Given the description of an element on the screen output the (x, y) to click on. 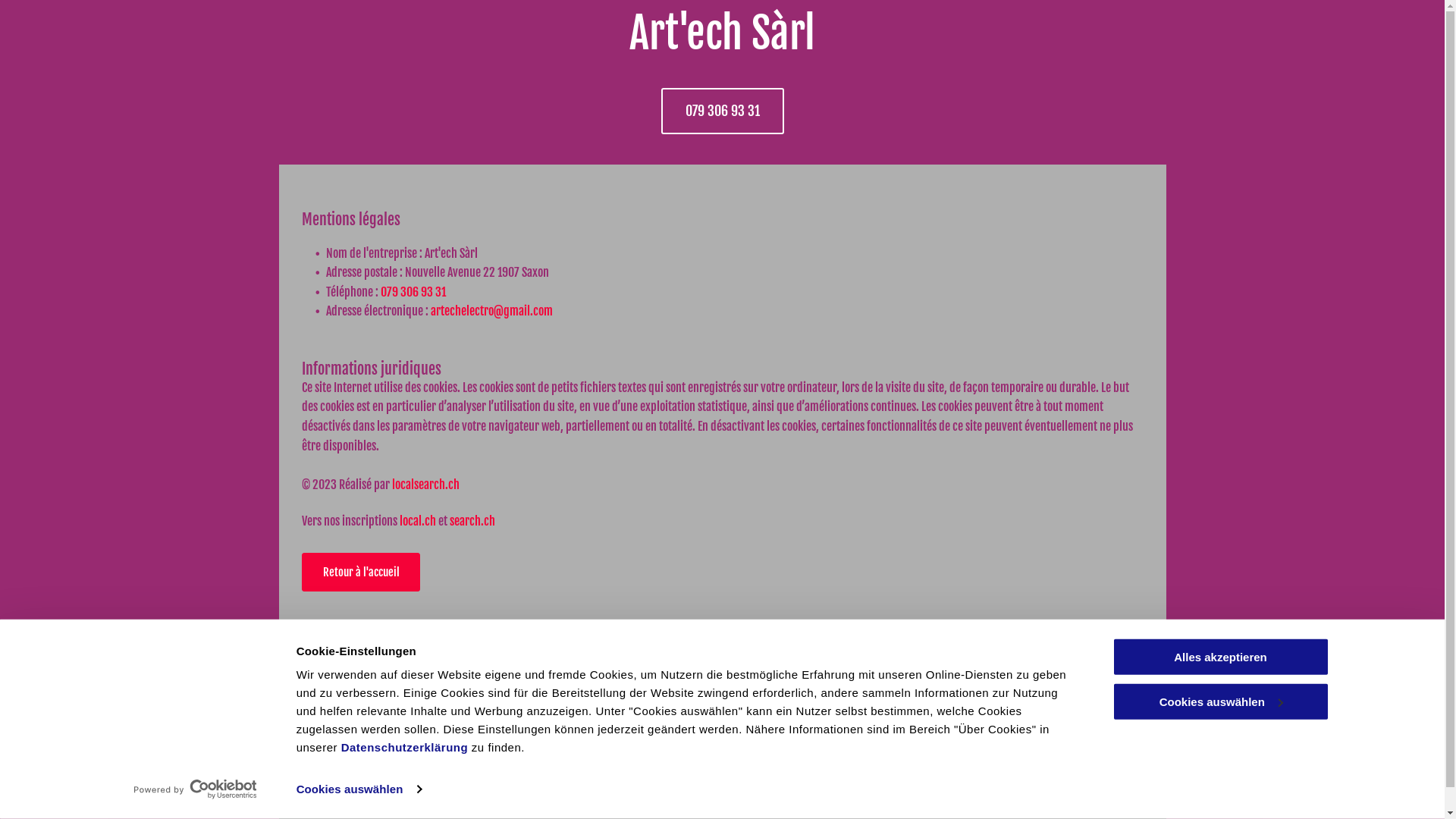
079 306 93 31 Element type: text (412, 291)
079 306 93 31 Element type: text (722, 110)
localsearch.ch Element type: text (424, 484)
artechelectro@gmail.com Element type: text (576, 734)
artechelectro@gmail.com Element type: text (491, 310)
local.ch Element type: text (416, 520)
079 306 93 31 Element type: text (552, 700)
Alles akzeptieren Element type: text (1219, 656)
search.ch Element type: text (471, 520)
